Given the description of an element on the screen output the (x, y) to click on. 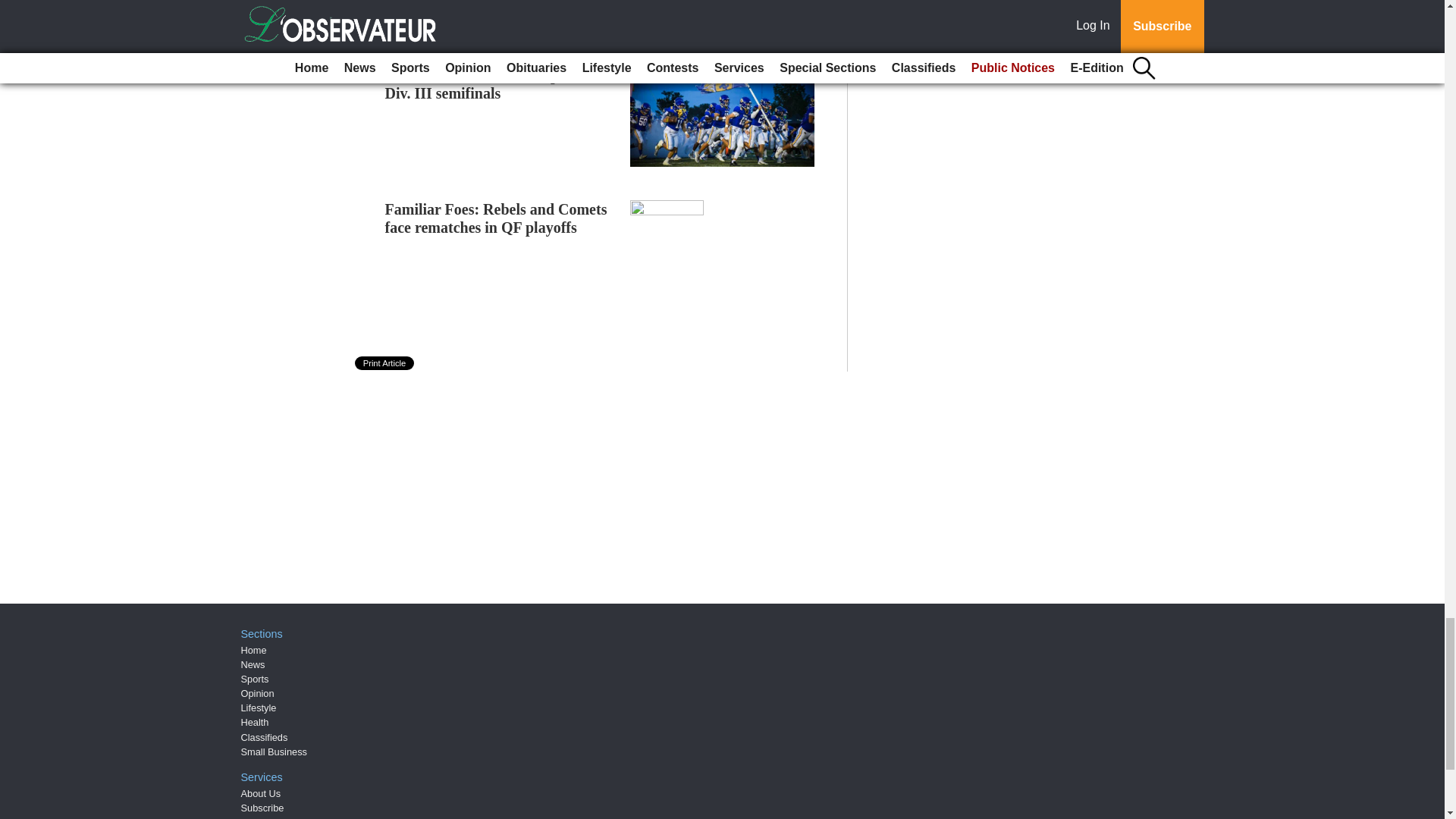
Print Article (384, 363)
